Given the description of an element on the screen output the (x, y) to click on. 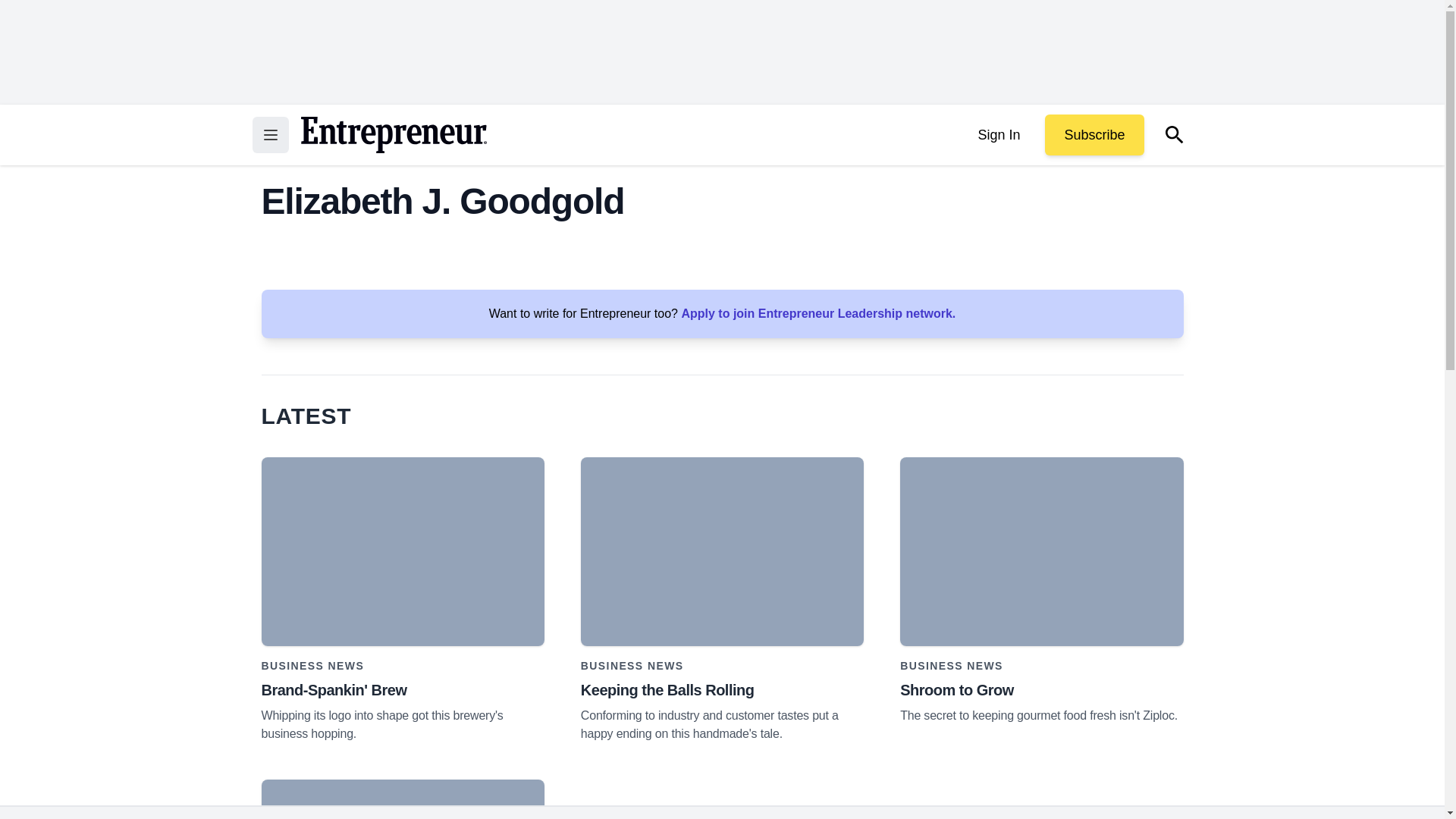
Subscribe (1093, 134)
Return to the home page (392, 135)
Sign In (998, 134)
